Given the description of an element on the screen output the (x, y) to click on. 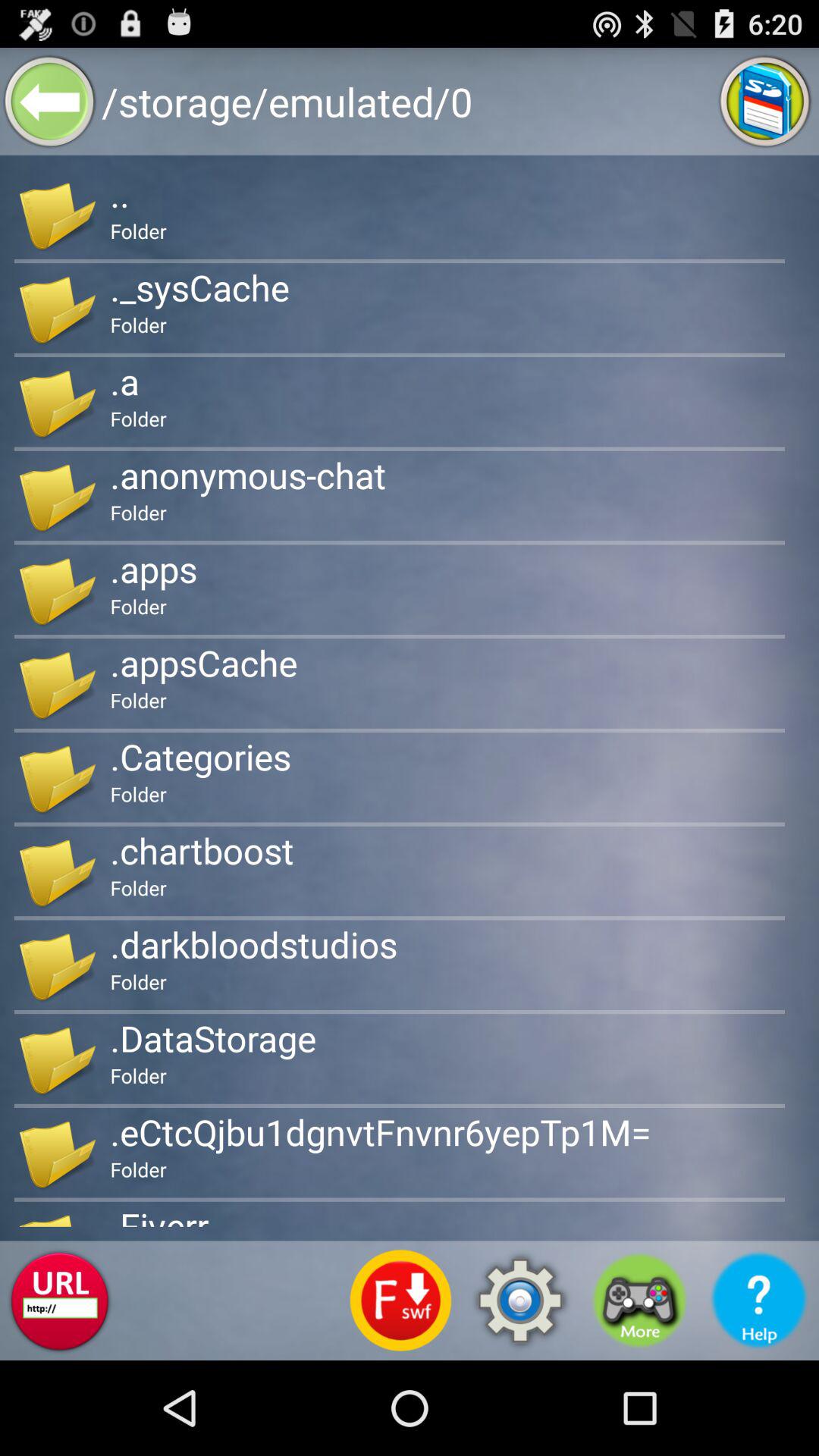
turn off the item below the .ectcqjbu1dgnvtfnvnr6yeptp1m= app (400, 1300)
